Given the description of an element on the screen output the (x, y) to click on. 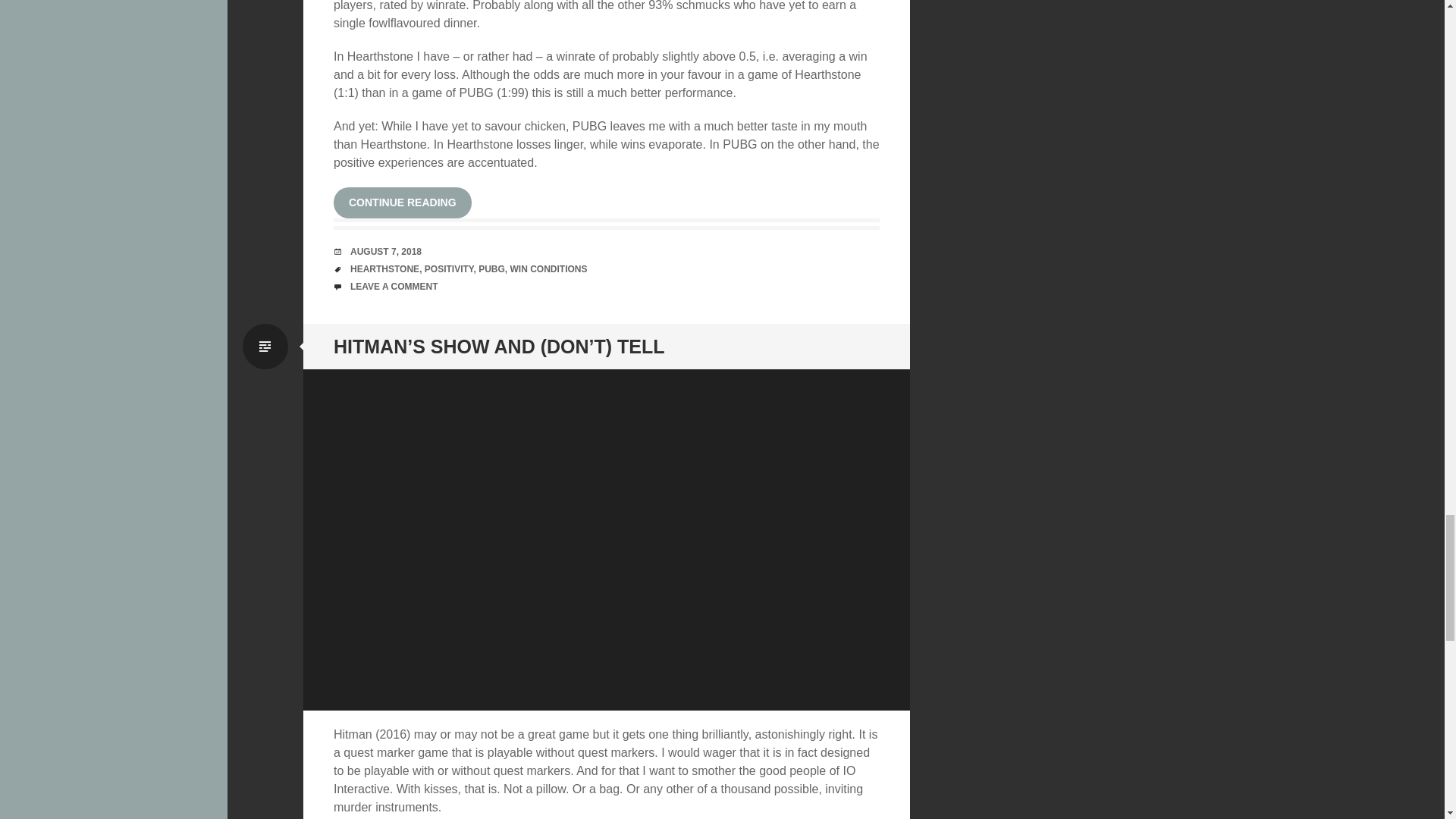
7:52 am (386, 251)
